Given the description of an element on the screen output the (x, y) to click on. 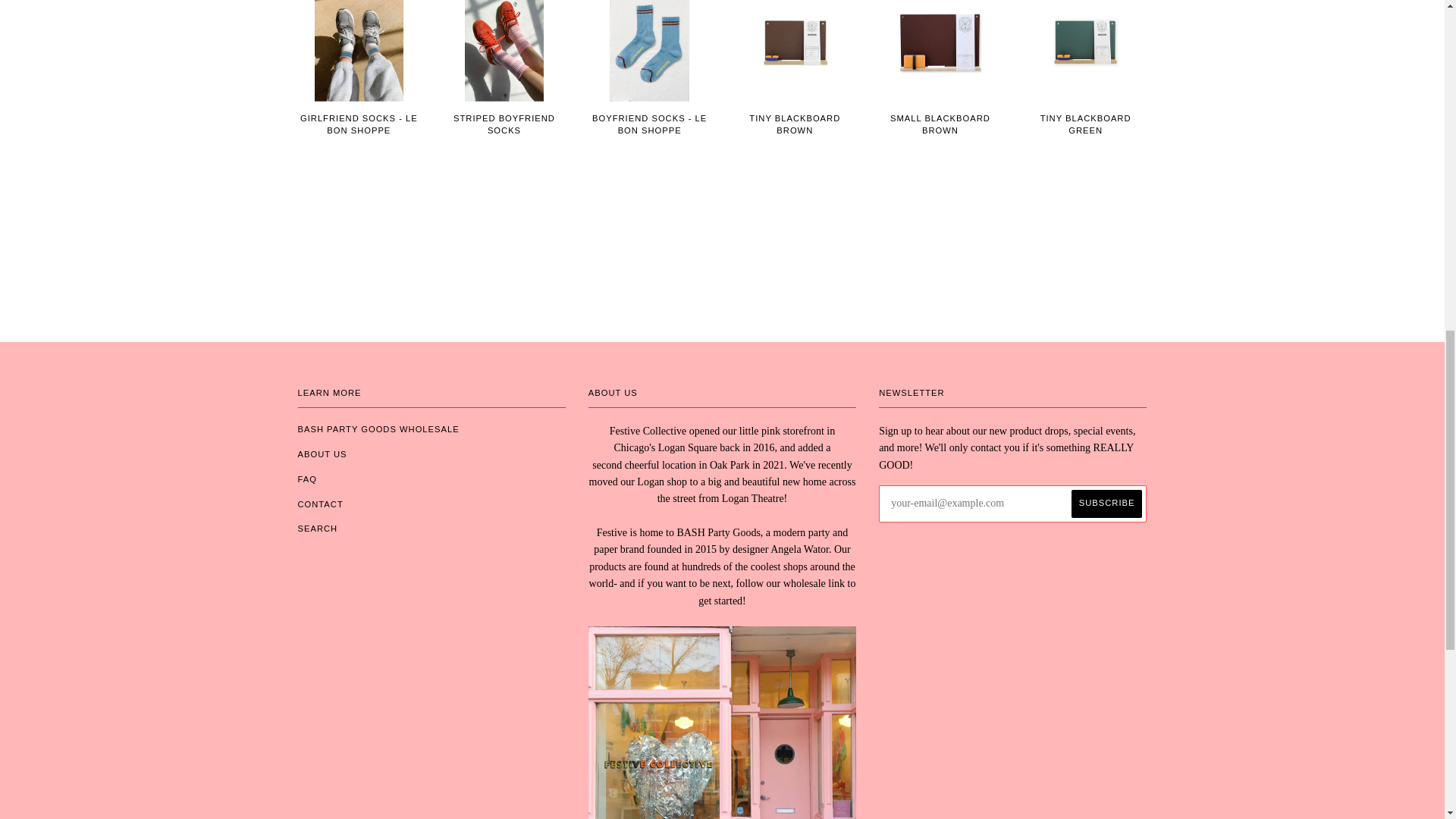
TINY BLACKBOARD BROWN (794, 136)
ABOUT US (321, 453)
BASH PARTY GOODS WHOLESALE (377, 429)
STRIPED BOYFRIEND SOCKS (504, 136)
GIRLFRIEND SOCKS - LE BON SHOPPE (358, 136)
SEARCH (317, 528)
CONTACT (319, 502)
BOYFRIEND SOCKS - LE BON SHOPPE (649, 136)
SMALL BLACKBOARD BROWN (940, 136)
Subscribe (1106, 503)
FAQ (306, 479)
TINY BLACKBOARD GREEN (1086, 136)
Subscribe (1106, 503)
